Given the description of an element on the screen output the (x, y) to click on. 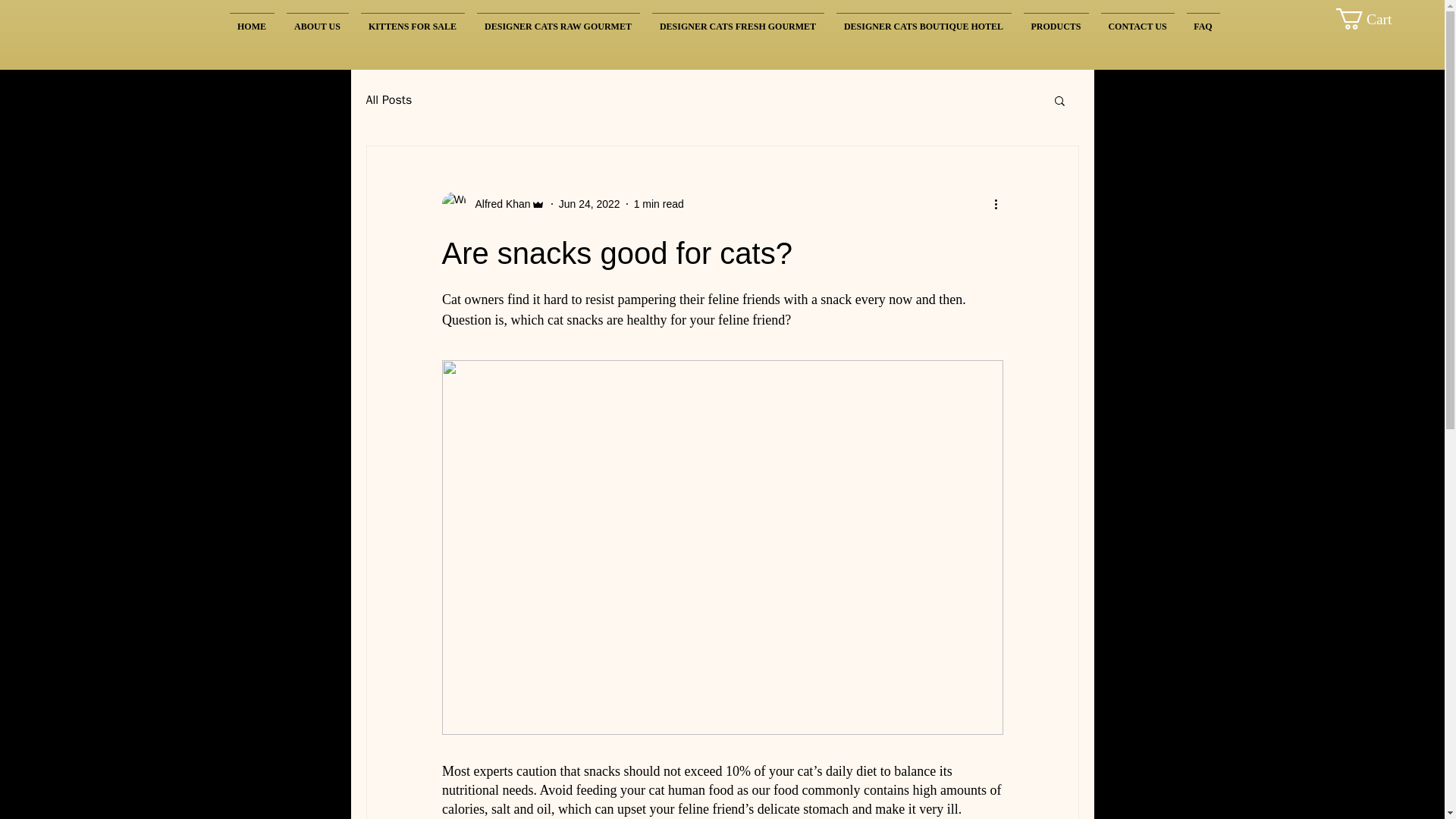
FAQ (1202, 20)
KITTENS FOR SALE (412, 20)
HOME (250, 20)
Alfred Khan (492, 203)
Jun 24, 2022 (589, 203)
All Posts (388, 100)
DESIGNER CATS RAW GOURMET (557, 20)
Cart (1375, 18)
ABOUT US (318, 20)
CONTACT US (1137, 20)
